Given the description of an element on the screen output the (x, y) to click on. 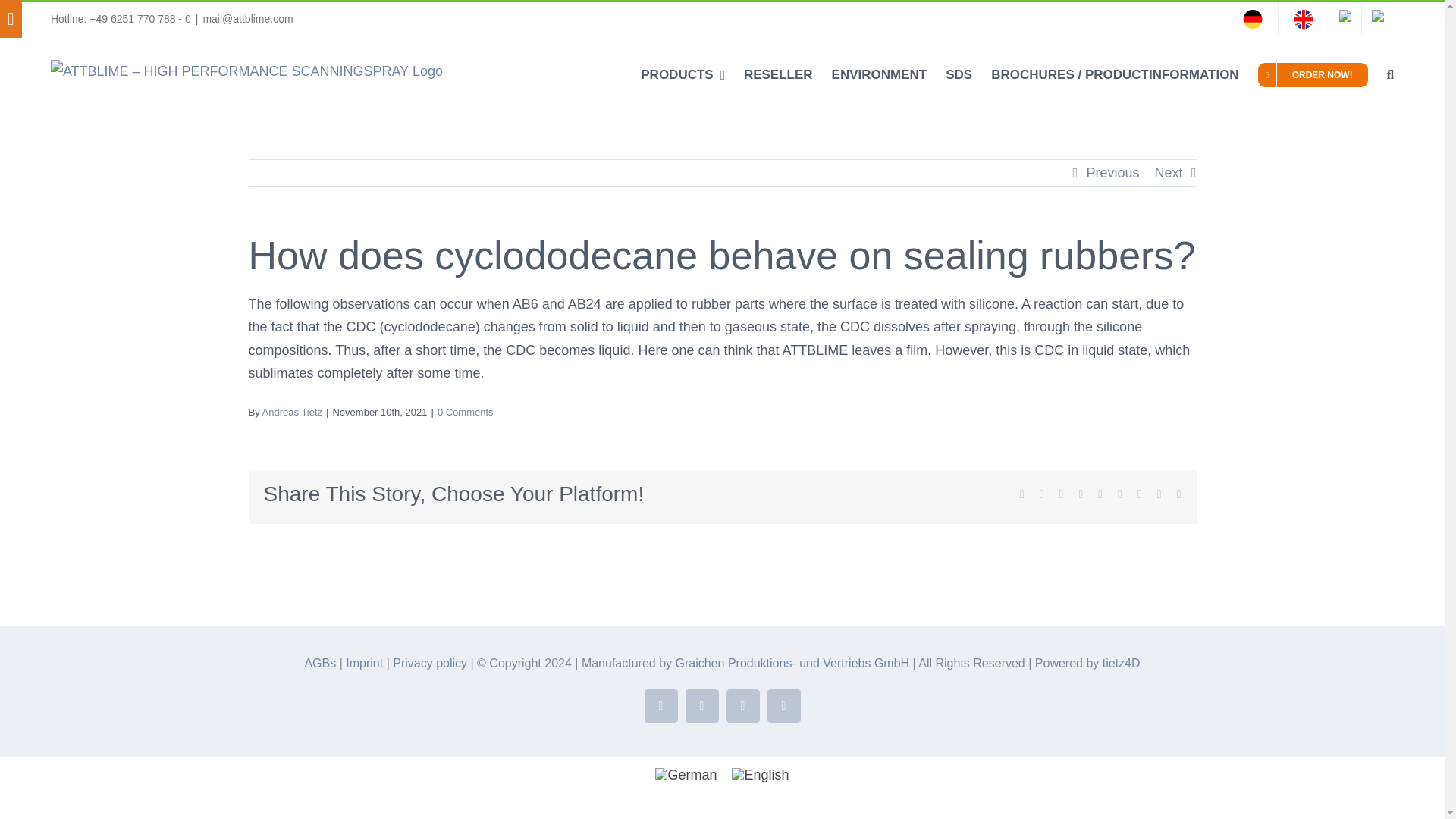
Posts by Andreas Tietz (292, 411)
RESELLER (778, 74)
Previous (1112, 172)
Next (1168, 172)
PRODUCTS (682, 74)
ORDER NOW! (1312, 74)
Instagram (702, 705)
Facebook (661, 705)
ENVIRONMENT (879, 74)
0 Comments (465, 411)
